Given the description of an element on the screen output the (x, y) to click on. 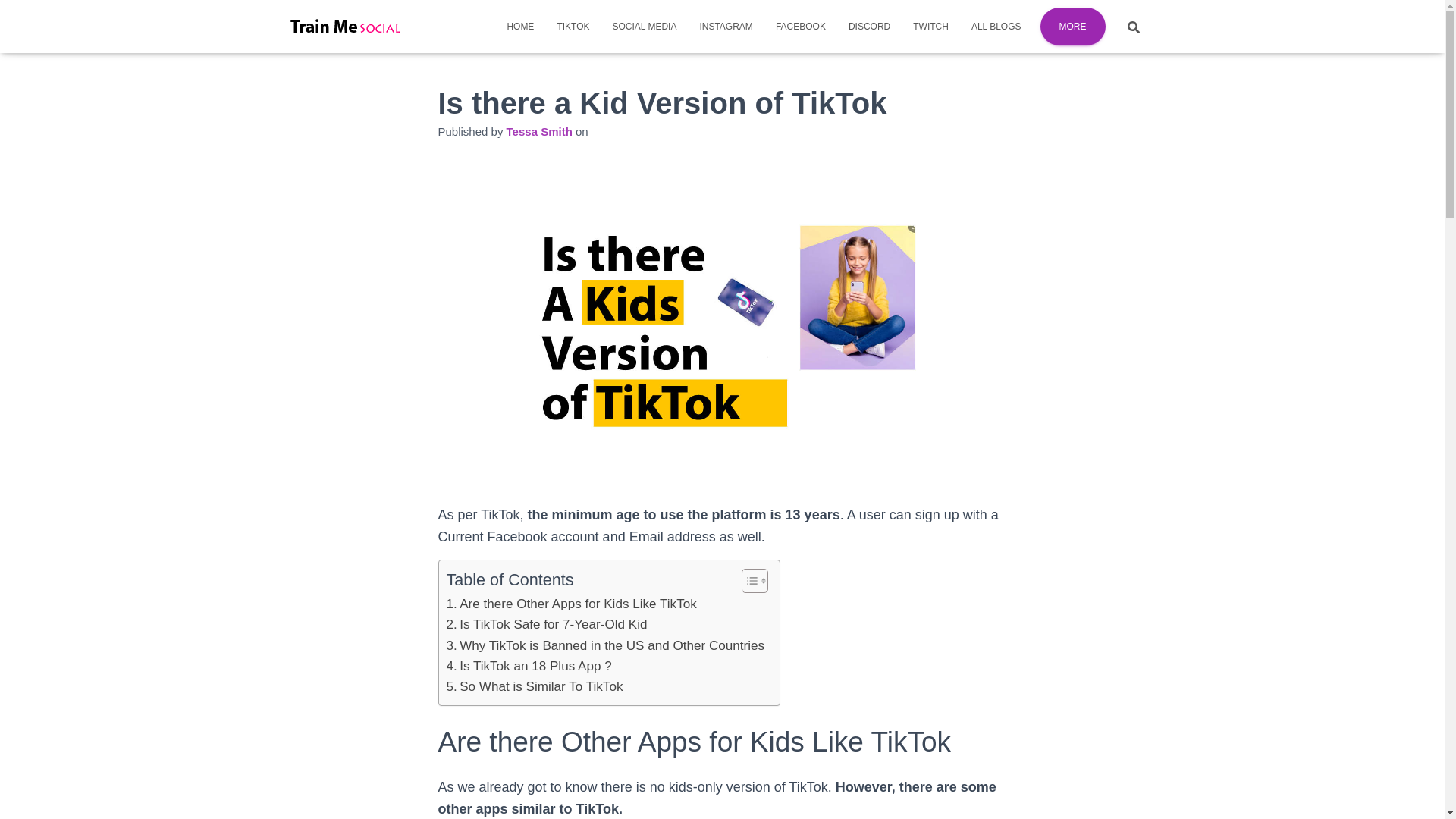
ALL BLOGS (995, 26)
Is TikTok an 18 Plus App ? (528, 666)
Train Me Social (346, 26)
INSTAGRAM (724, 26)
Tessa Smith (539, 131)
Social Media (643, 26)
Why TikTok is Banned in the US and Other Countries (604, 645)
HOME (519, 26)
FACEBOOK (800, 26)
Instagram (724, 26)
Why TikTok is Banned in the US and Other Countries (604, 645)
So What is Similar To TikTok (534, 686)
TWITCH (930, 26)
MORE (1072, 26)
TikTok (571, 26)
